Given the description of an element on the screen output the (x, y) to click on. 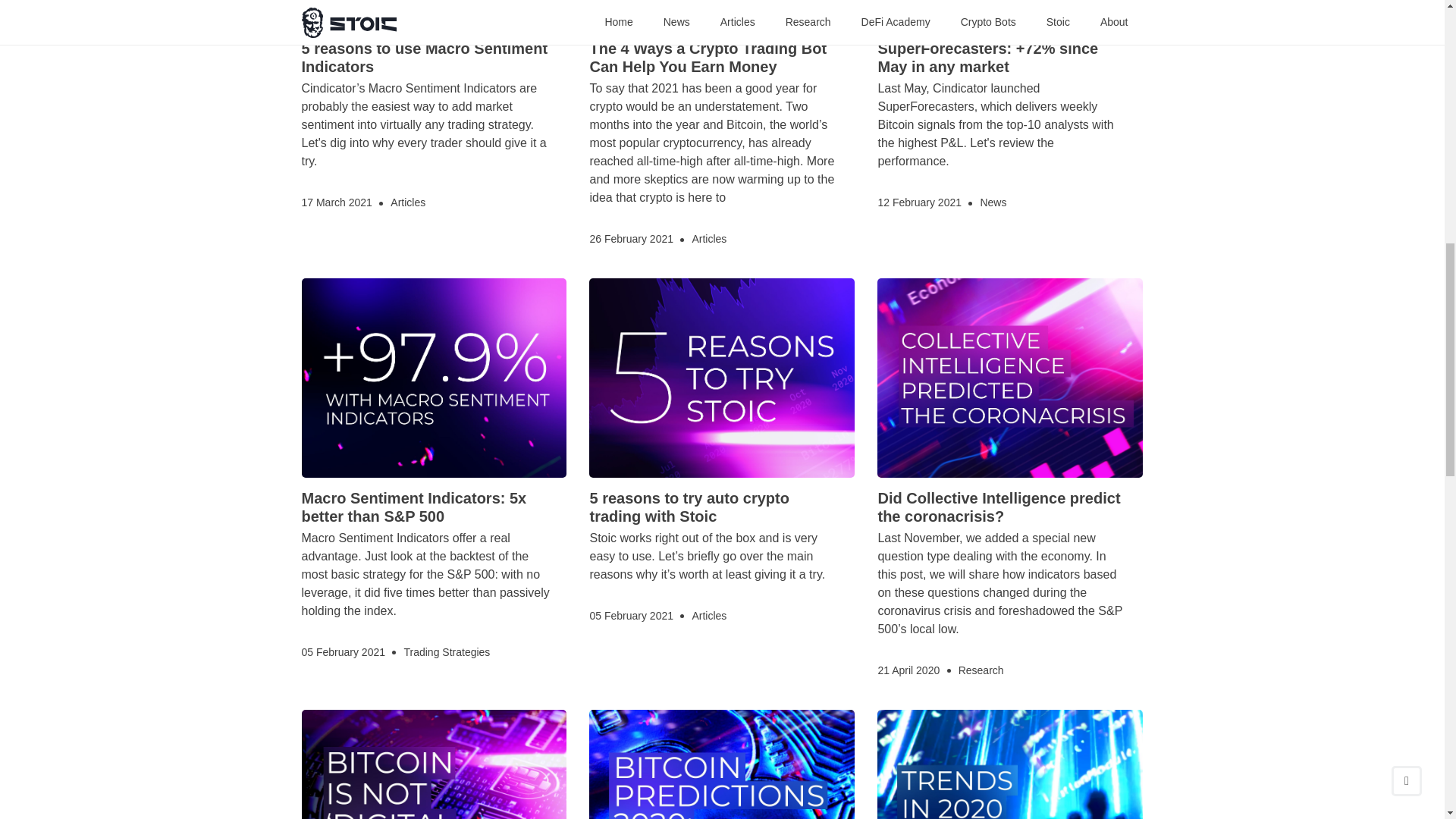
Articles (407, 202)
5 reasons to use Macro Sentiment Indicators (424, 57)
Articles (708, 238)
The 4 Ways a Crypto Trading Bot Can Help You Earn Money (708, 57)
